Given the description of an element on the screen output the (x, y) to click on. 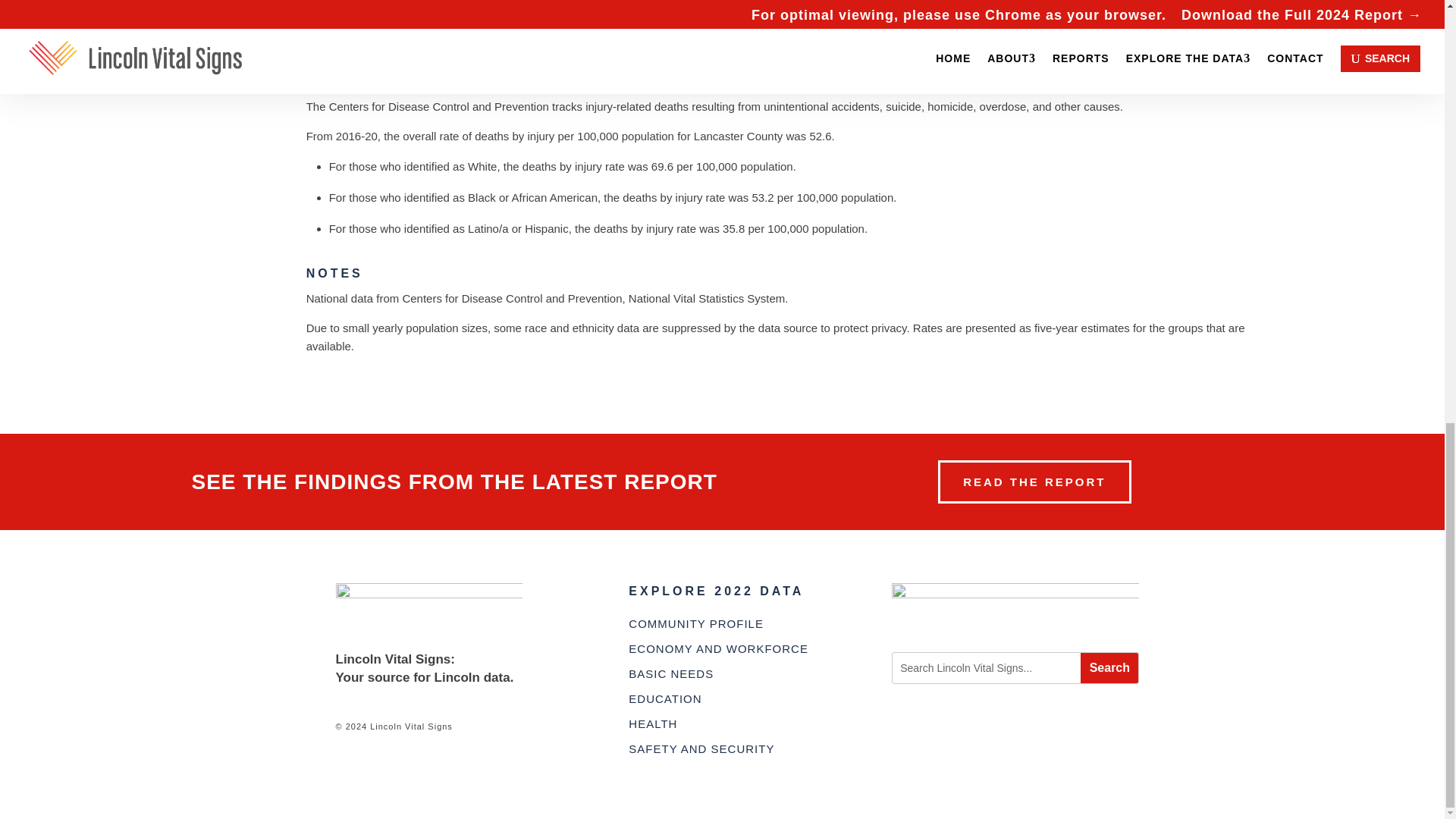
Search (1109, 667)
Search (1109, 667)
